Given the description of an element on the screen output the (x, y) to click on. 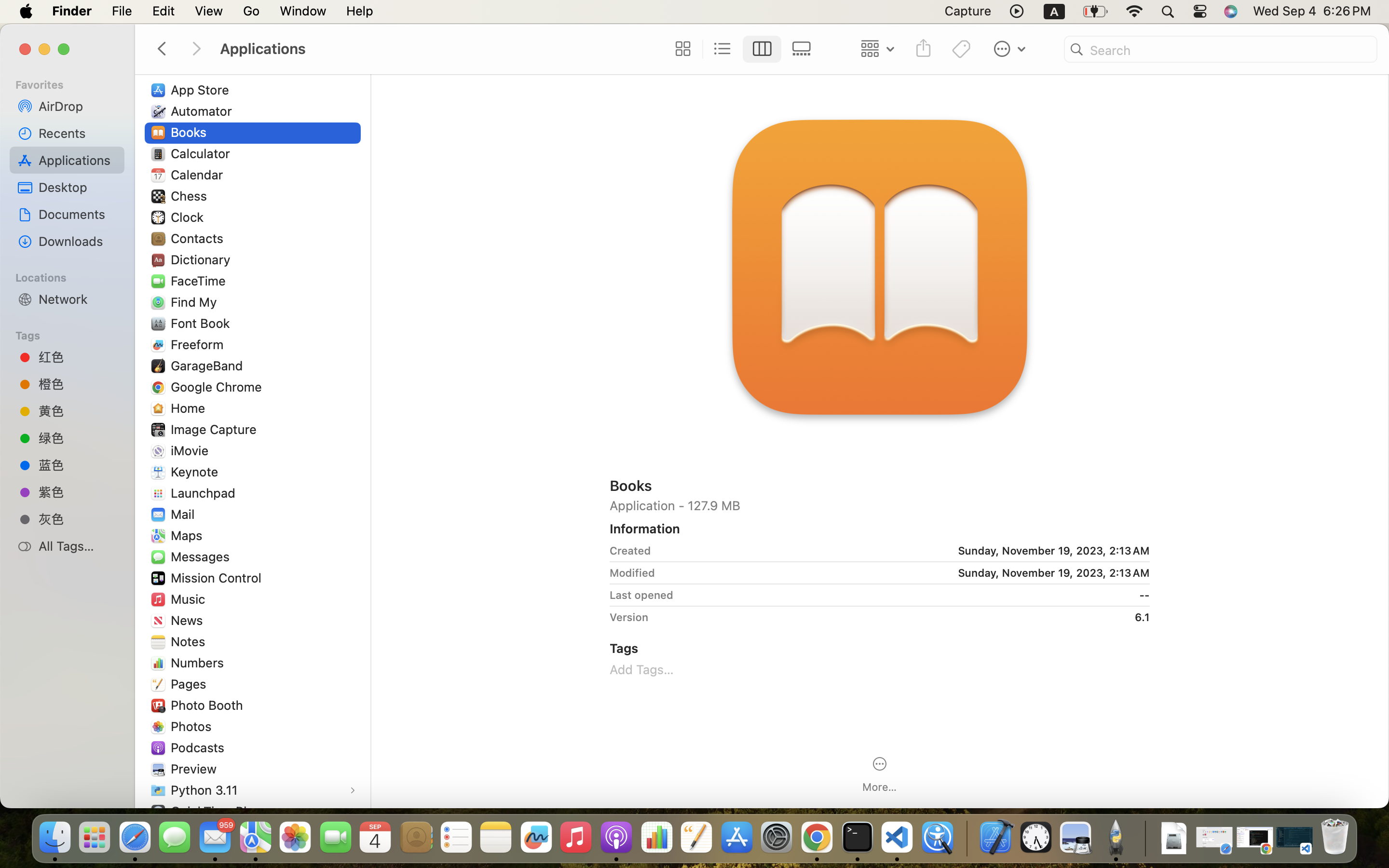
Version Element type: AXStaticText (628, 616)
Numbers Element type: AXTextField (199, 662)
Calendar Element type: AXTextField (198, 174)
Documents Element type: AXStaticText (77, 213)
Maps Element type: AXTextField (188, 534)
